Given the description of an element on the screen output the (x, y) to click on. 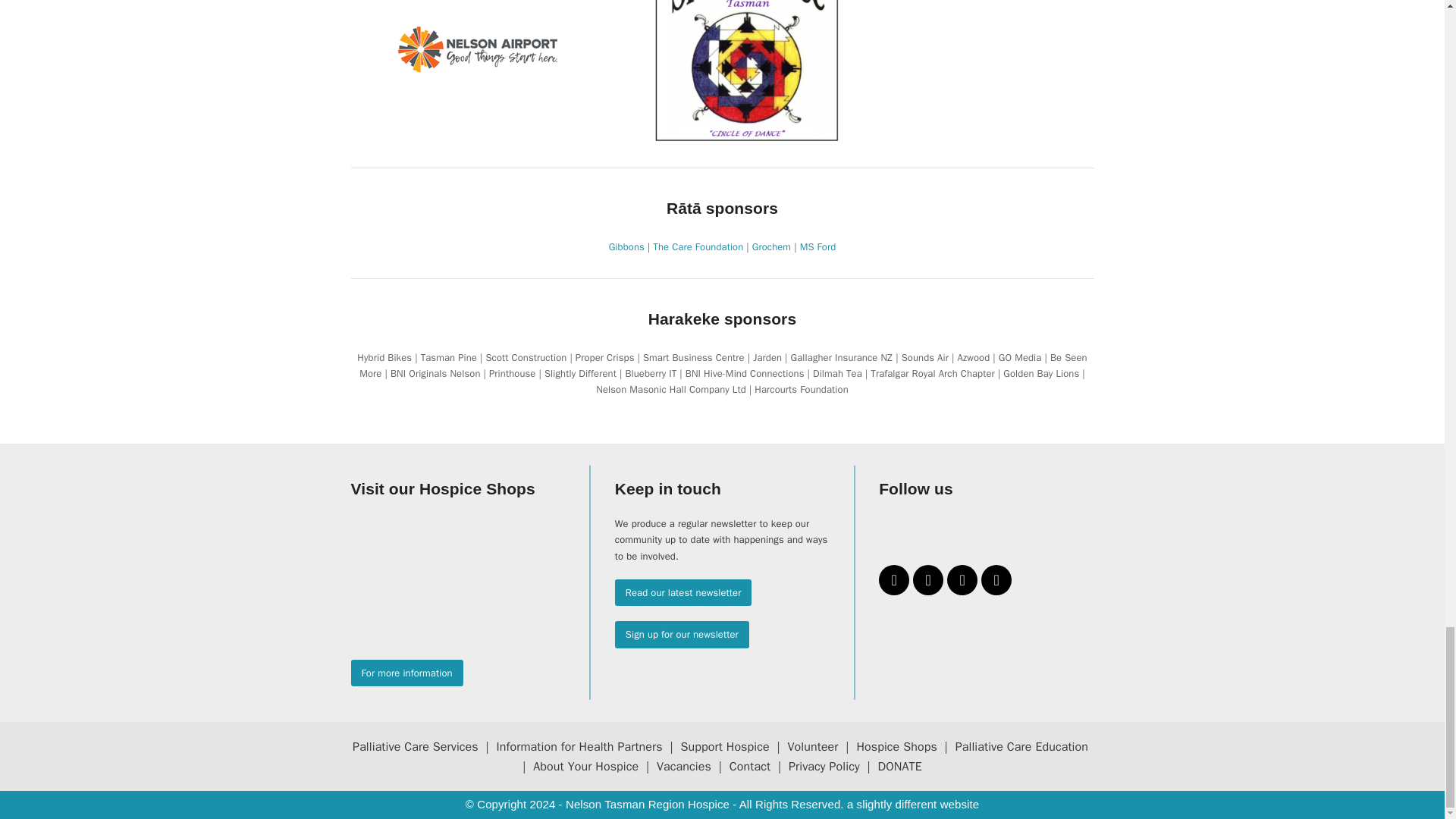
newsletter sign-up (683, 592)
YouTube (996, 580)
newsletter sign-up (681, 633)
LinkedIn (961, 580)
Hospice Shops (406, 673)
Instagram (927, 580)
Facebook (893, 580)
